Given the description of an element on the screen output the (x, y) to click on. 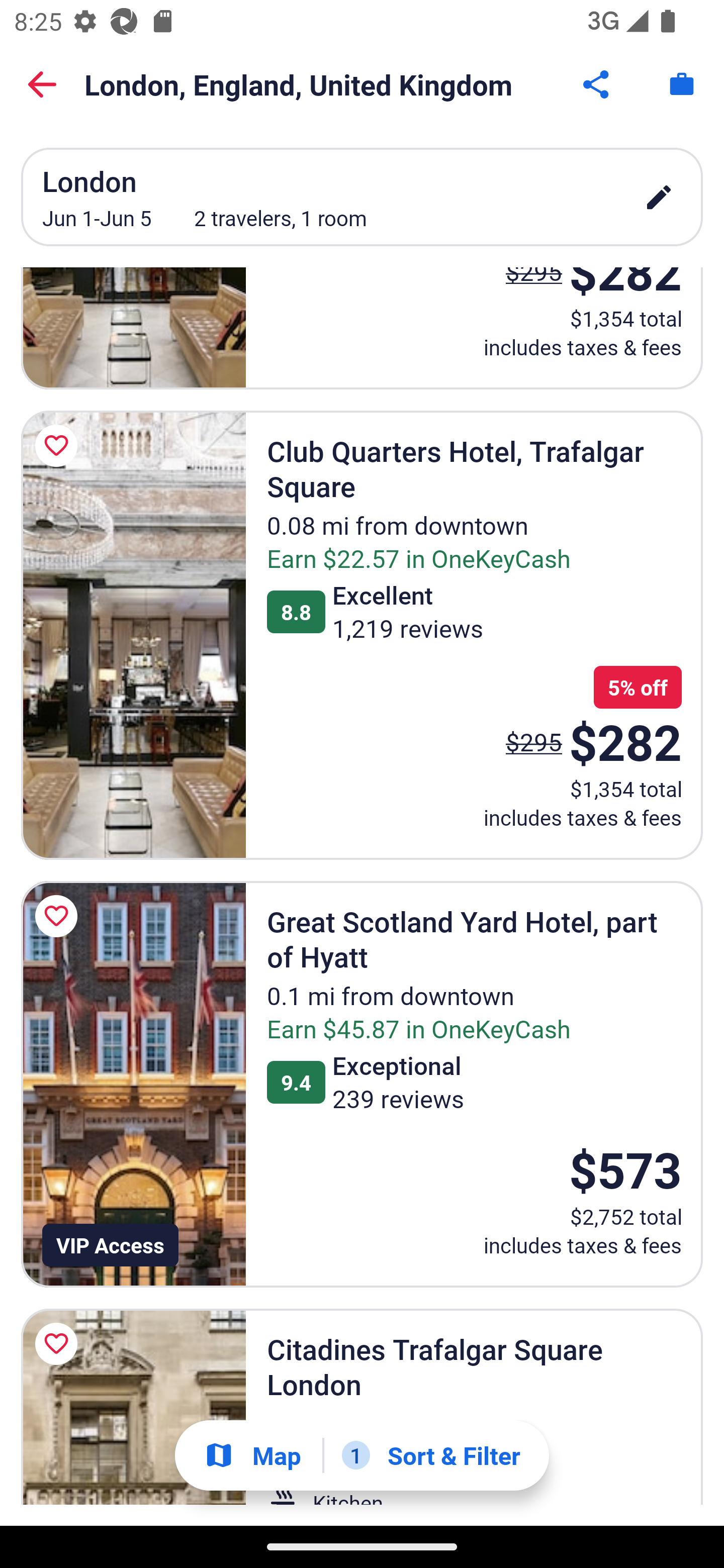
Back (42, 84)
Share Button (597, 84)
Trips. Button (681, 84)
London Jun 1-Jun 5 2 travelers, 1 room edit (361, 196)
The Grand at Trafalgar Square (133, 328)
Club Quarters Hotel, Trafalgar Square (133, 634)
$295 The price was $295 (533, 741)
Great Scotland Yard Hotel, part of Hyatt (133, 1084)
Save Citadines Trafalgar Square London to a trip (59, 1343)
Citadines Trafalgar Square London (133, 1407)
1 Sort & Filter 1 Filter applied. Filters Button (430, 1455)
Show map Map Show map Button (252, 1455)
